Given the description of an element on the screen output the (x, y) to click on. 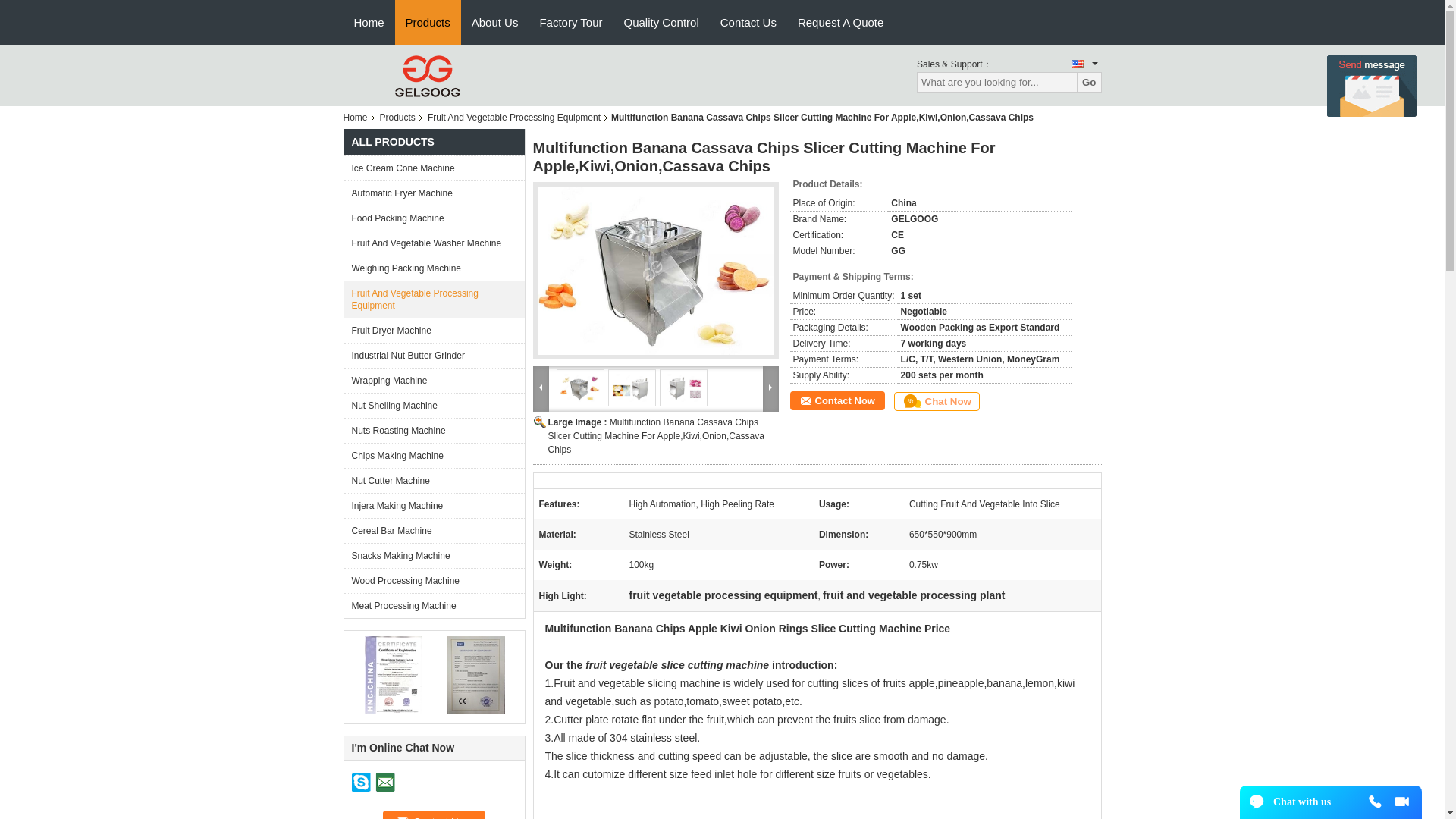
Contact Now (433, 815)
Food Packing Machine (433, 217)
Weighing Packing Machine (433, 267)
Quality Control (661, 22)
Nuts Roasting Machine (433, 430)
Cereal Bar Machine (433, 529)
Fruit And Vegetable Processing Equipment (514, 117)
Automatic Fryer Machine (433, 192)
Contact Us (748, 22)
Wrapping Machine (433, 380)
